Given the description of an element on the screen output the (x, y) to click on. 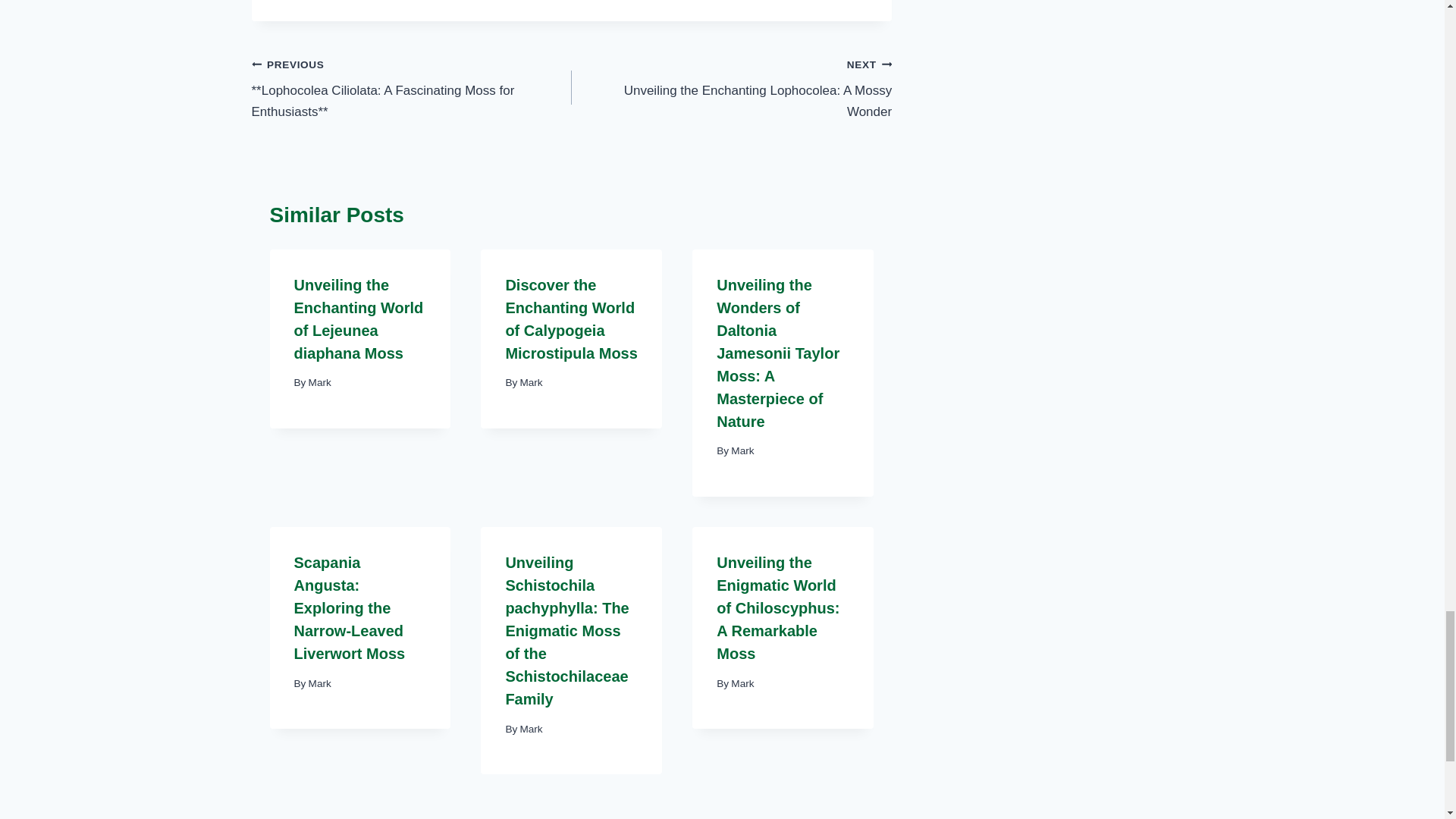
Unveiling the Enchanting World of Lejeunea diaphana Moss (358, 318)
Mark (319, 382)
